Given the description of an element on the screen output the (x, y) to click on. 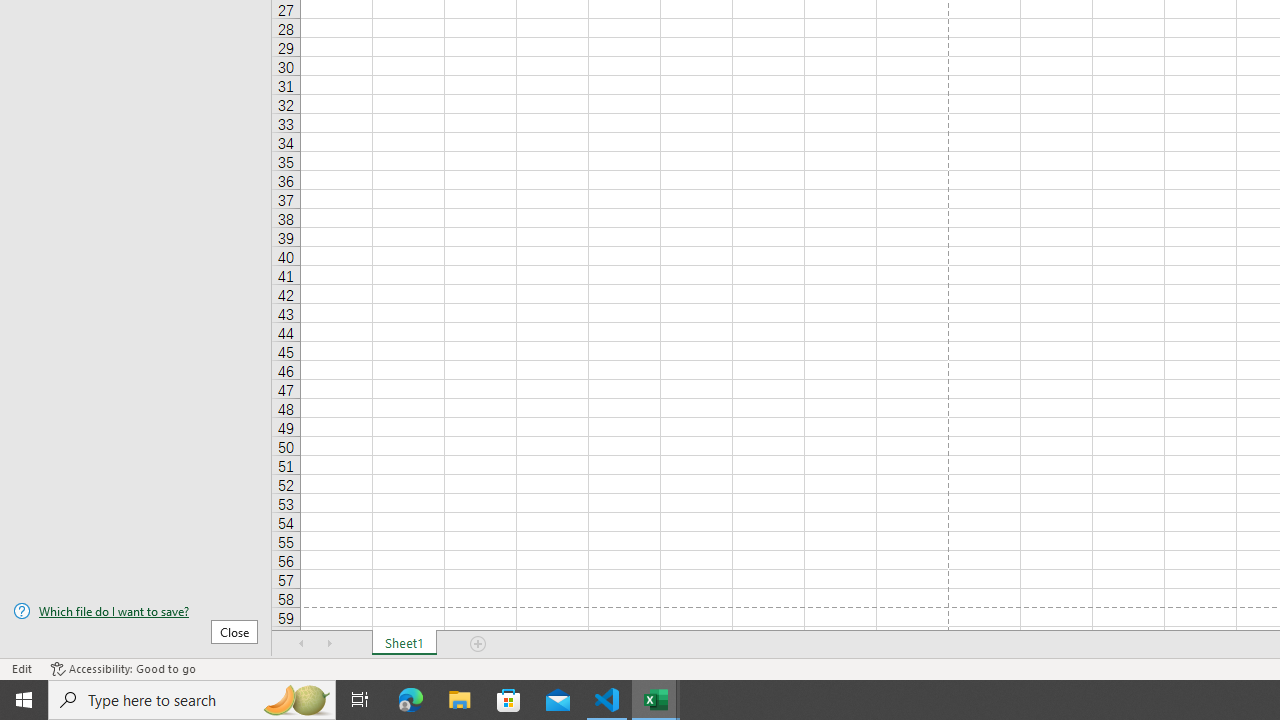
Accessibility Checker Accessibility: Good to go (123, 668)
Add Sheet (478, 644)
Sheet1 (404, 644)
Scroll Left (302, 644)
Scroll Right (330, 644)
Which file do I want to save? (136, 611)
Close (234, 631)
